Given the description of an element on the screen output the (x, y) to click on. 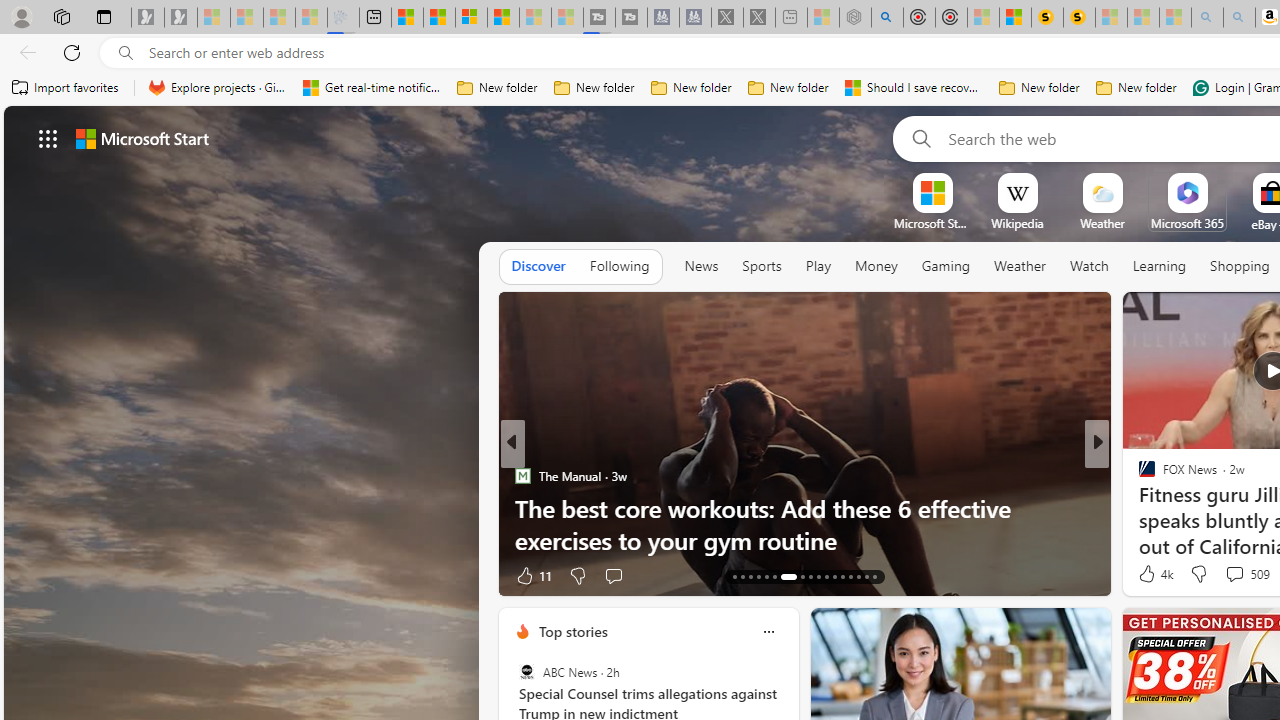
49 Like (1149, 574)
Search icon (125, 53)
AutomationID: tab-15 (750, 576)
BRAINY DOSE (1138, 507)
News (701, 267)
Import favorites (65, 88)
Irish Star (1138, 475)
App launcher (47, 138)
AutomationID: tab-26 (850, 576)
AutomationID: tab-25 (842, 576)
